Given the description of an element on the screen output the (x, y) to click on. 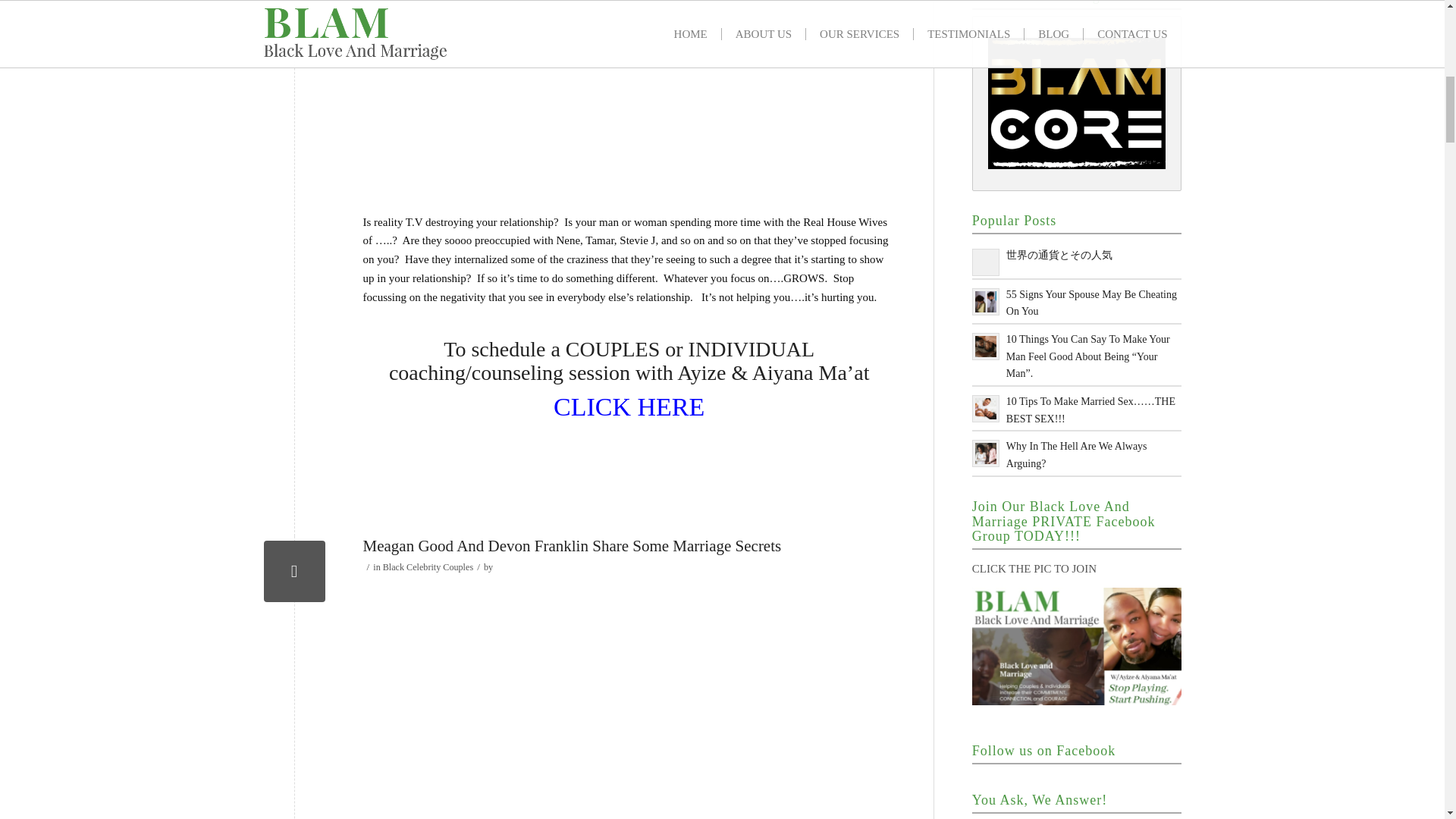
Meagan Good And Devon Franklin Share Some Marriage Secrets (293, 570)
CLICK HERE (628, 406)
Meagan Good And Devon Franklin Share Some Marriage Secrets (571, 546)
Black Celebrity Couples (427, 566)
